Given the description of an element on the screen output the (x, y) to click on. 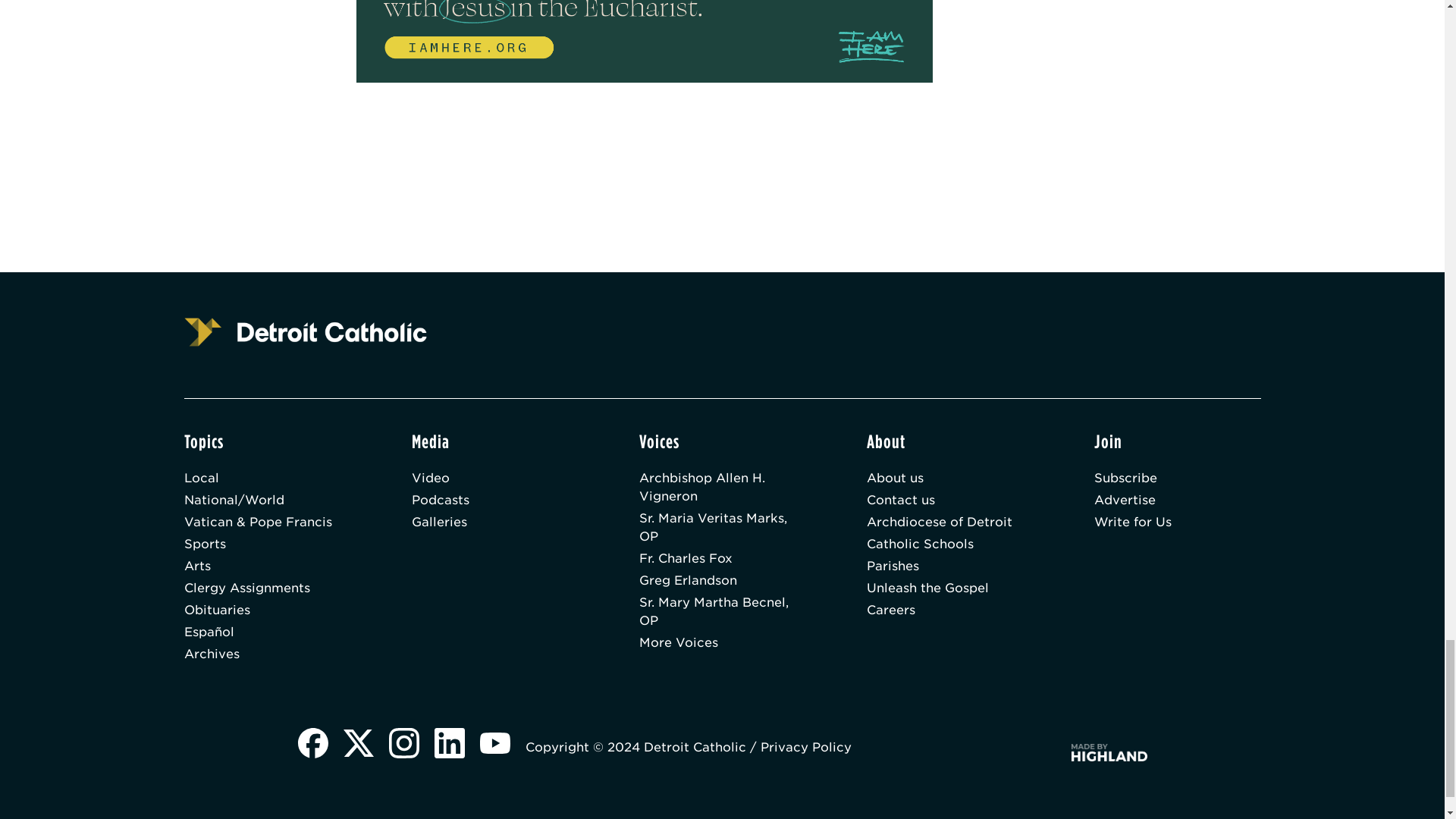
AOD-IAM: July Article Bottom (644, 41)
